Given the description of an element on the screen output the (x, y) to click on. 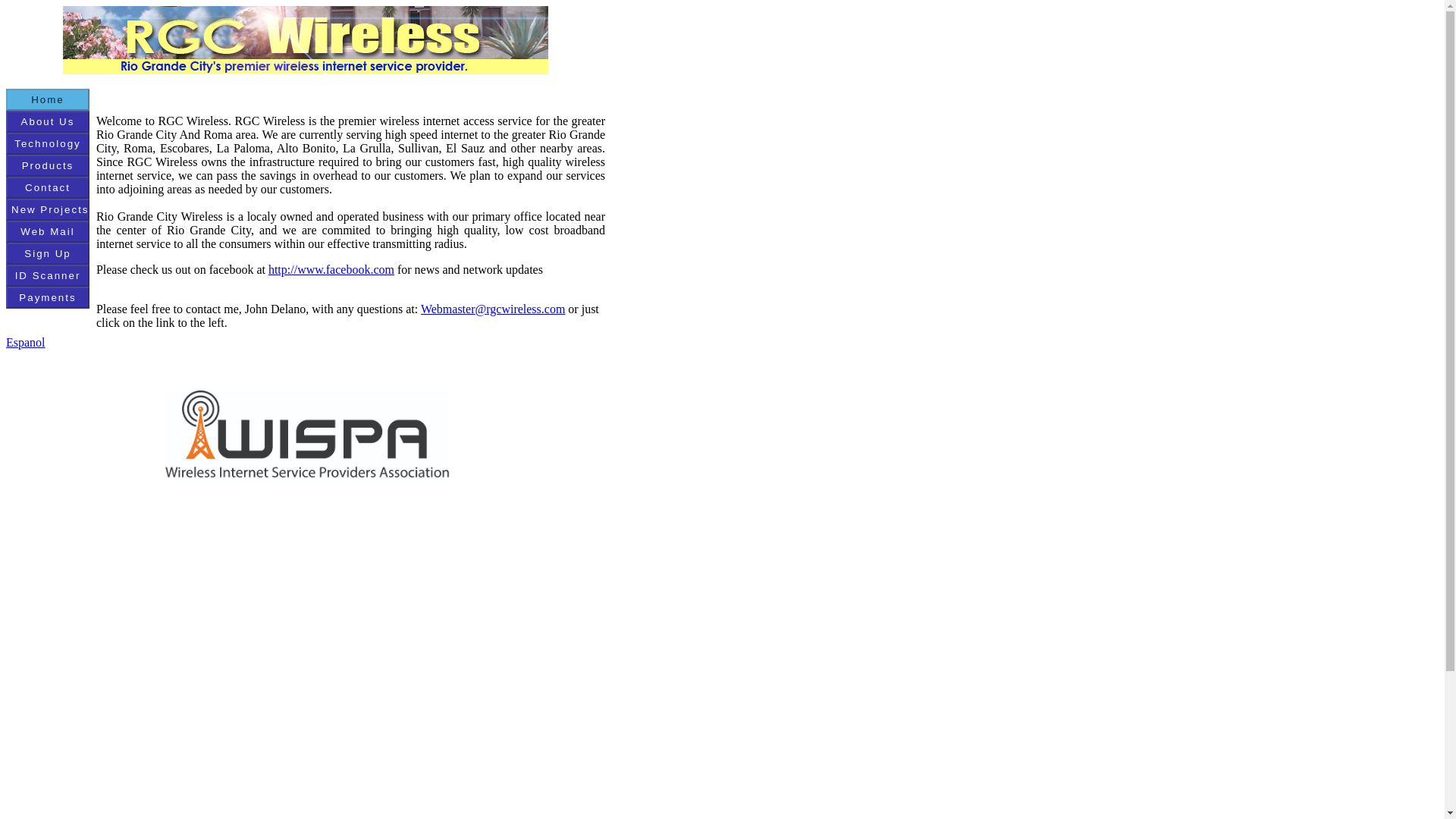
About Us (46, 121)
ID Scanner (46, 275)
Web Mail (46, 231)
New Projects (46, 209)
Payments (46, 297)
Payments (46, 297)
Products (46, 165)
About Us (46, 121)
Home (46, 99)
Technology (46, 143)
